Given the description of an element on the screen output the (x, y) to click on. 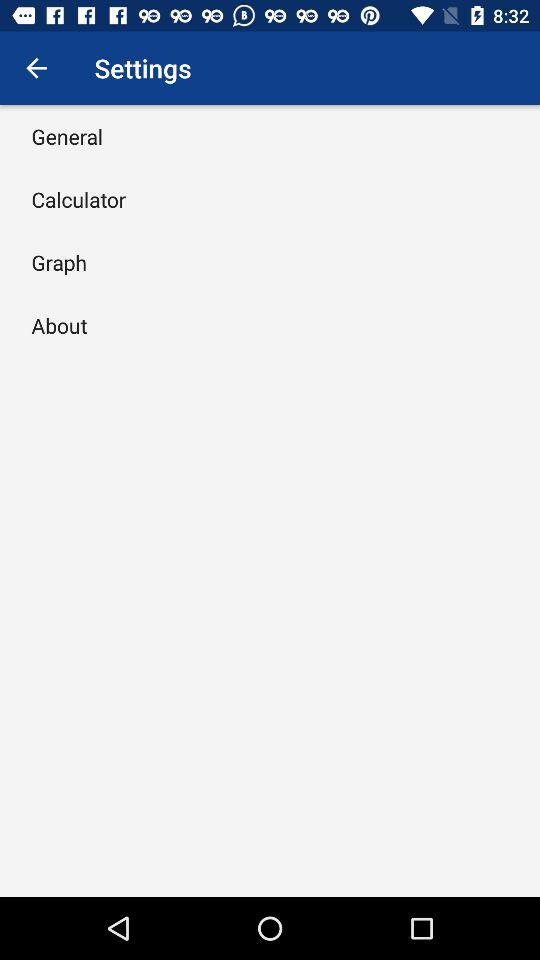
swipe to the graph item (59, 262)
